Given the description of an element on the screen output the (x, y) to click on. 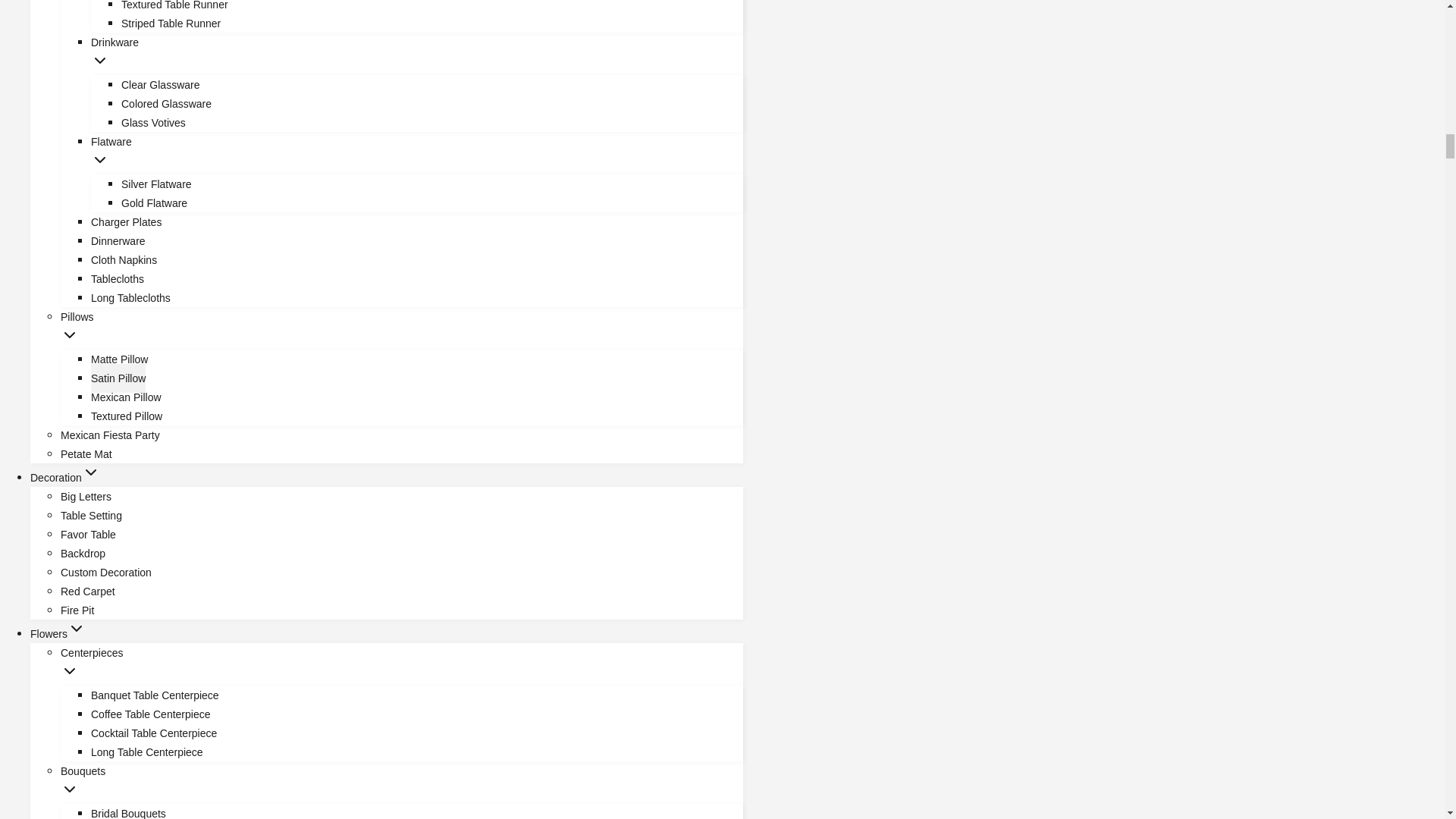
Expand (90, 472)
Expand (69, 334)
Expand (99, 159)
Expand (69, 789)
Expand (75, 628)
Expand (69, 670)
Expand (99, 60)
